Given the description of an element on the screen output the (x, y) to click on. 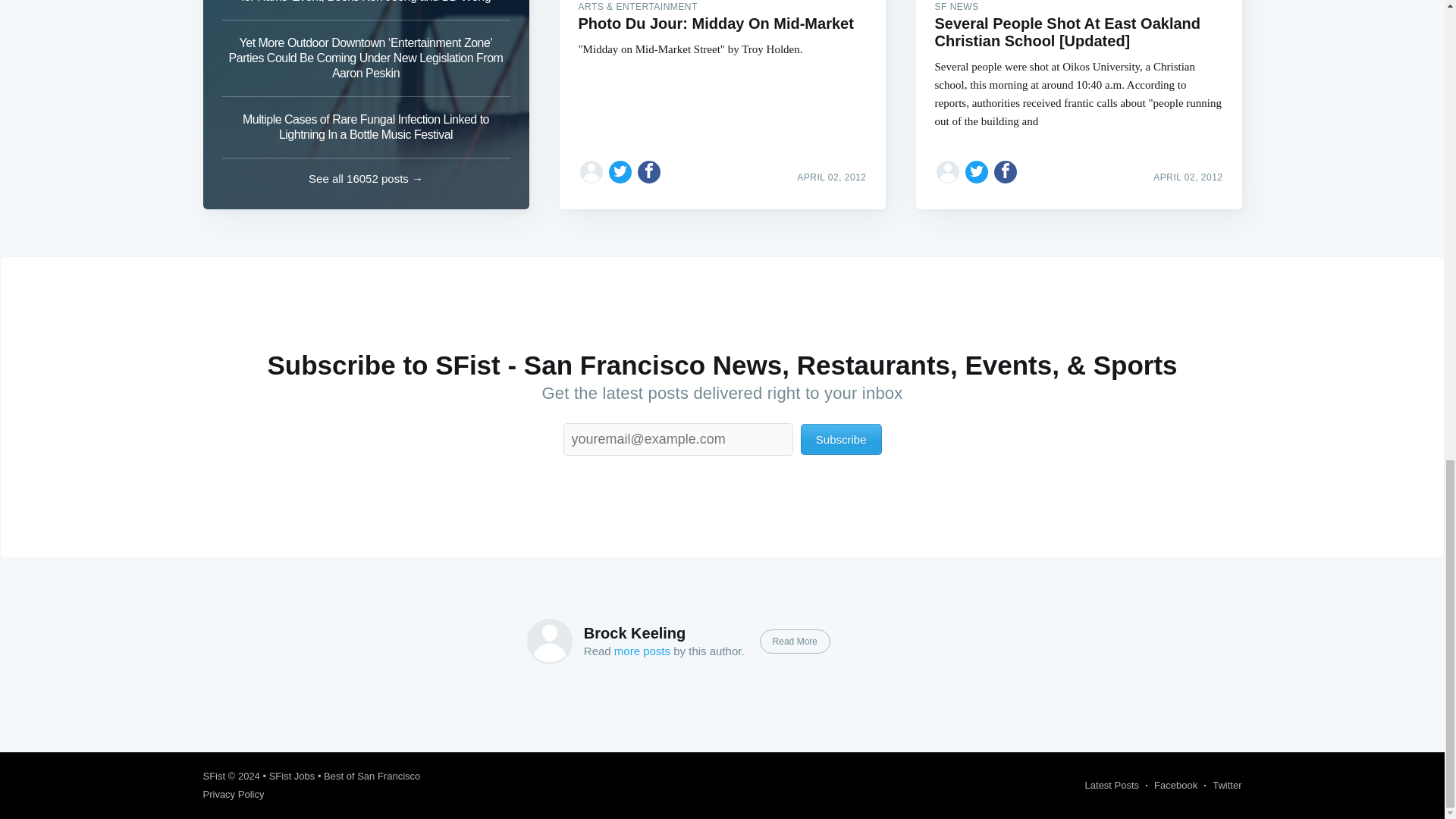
Share on Facebook (649, 171)
Share on Facebook (1004, 171)
Subscribe (841, 439)
Share on Twitter (976, 171)
Brock Keeling (634, 632)
more posts (641, 650)
Share on Twitter (620, 171)
